Given the description of an element on the screen output the (x, y) to click on. 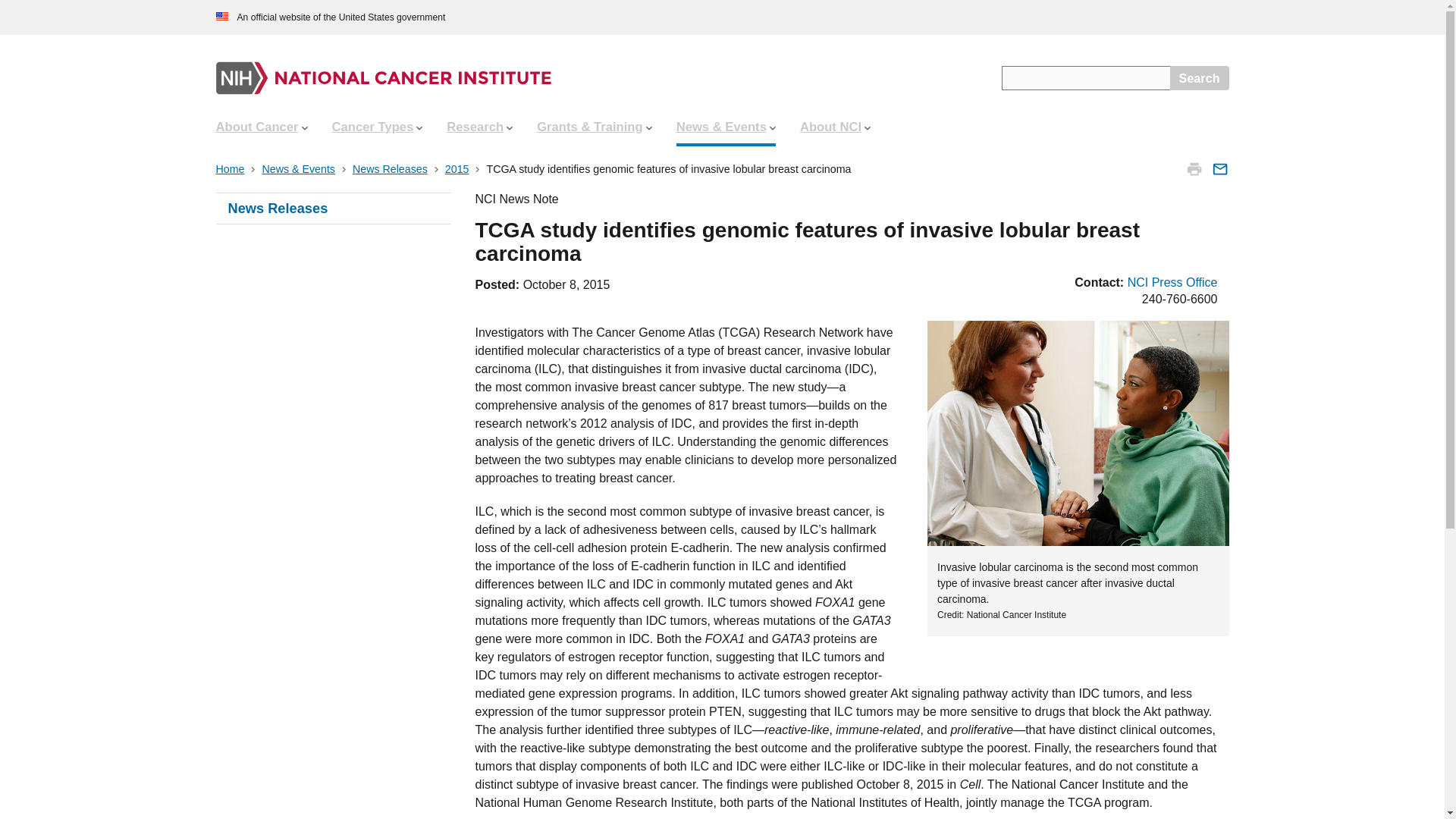
Research (478, 127)
About Cancer (260, 127)
Home (231, 168)
2015 (458, 168)
News Releases (332, 208)
About NCI (834, 127)
Cancer Types (377, 127)
Search (1199, 78)
News Releases (391, 168)
NCI Press Office (1171, 282)
